Given the description of an element on the screen output the (x, y) to click on. 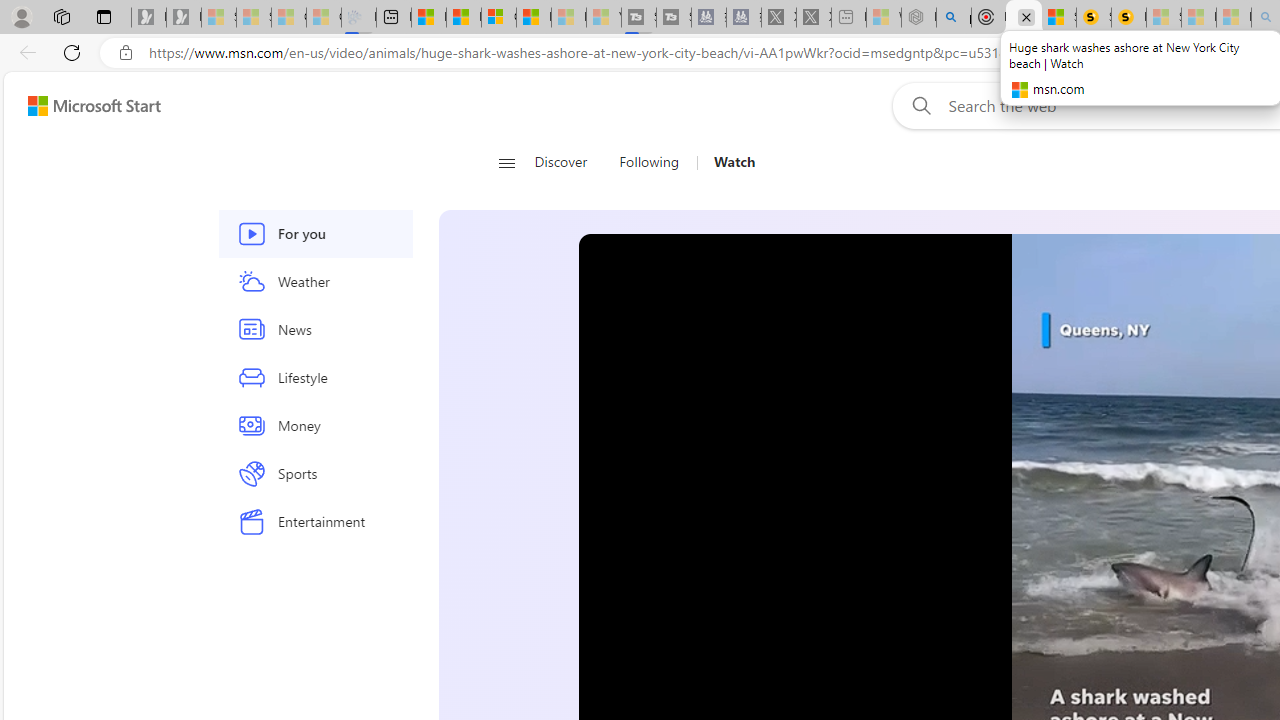
Wildlife - MSN - Sleeping (883, 17)
Michelle Starr, Senior Journalist at ScienceAlert (1128, 17)
Class: button-glyph (505, 162)
